Given the description of an element on the screen output the (x, y) to click on. 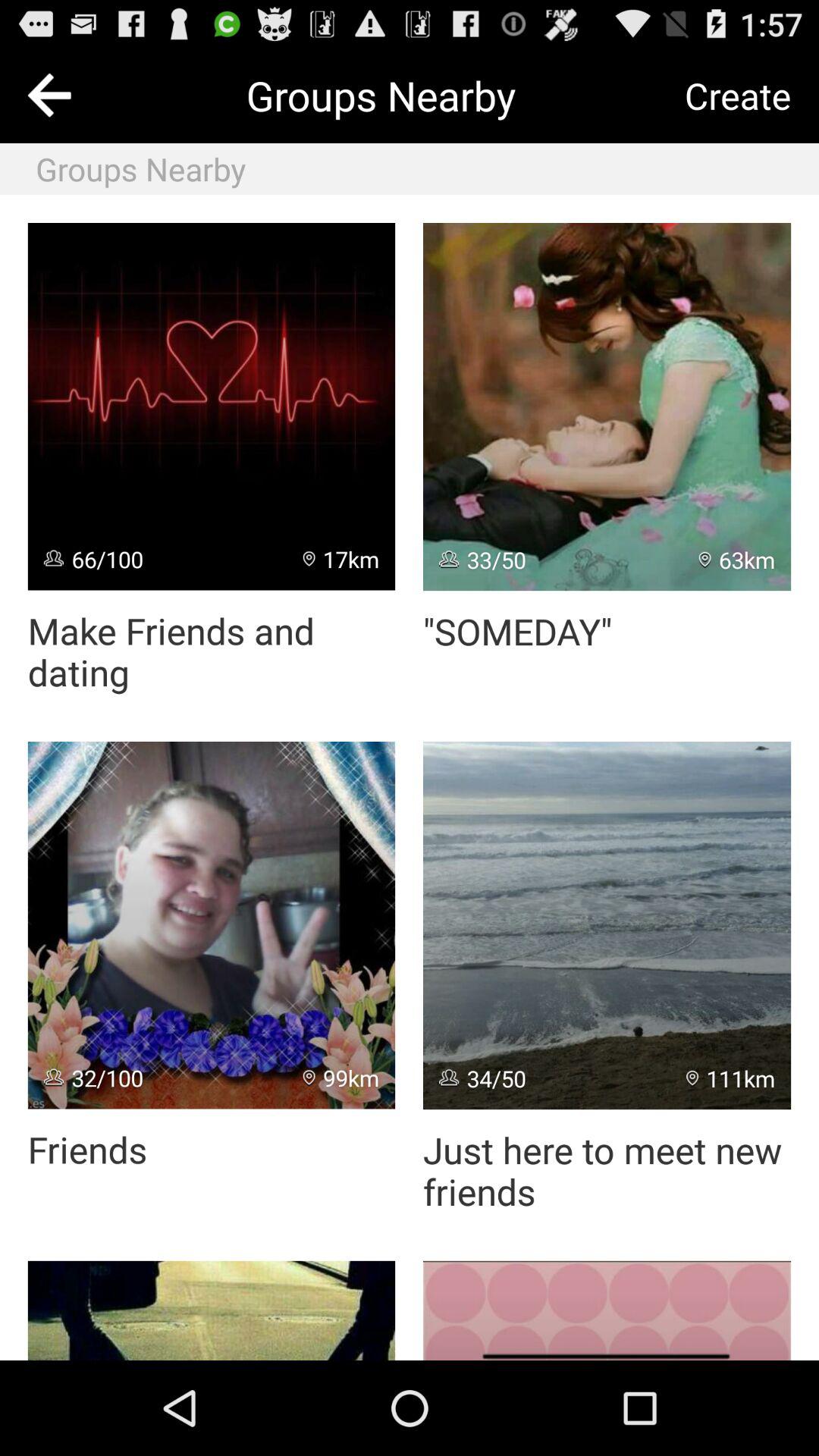
tap the app next to the 66/100 icon (341, 558)
